Given the description of an element on the screen output the (x, y) to click on. 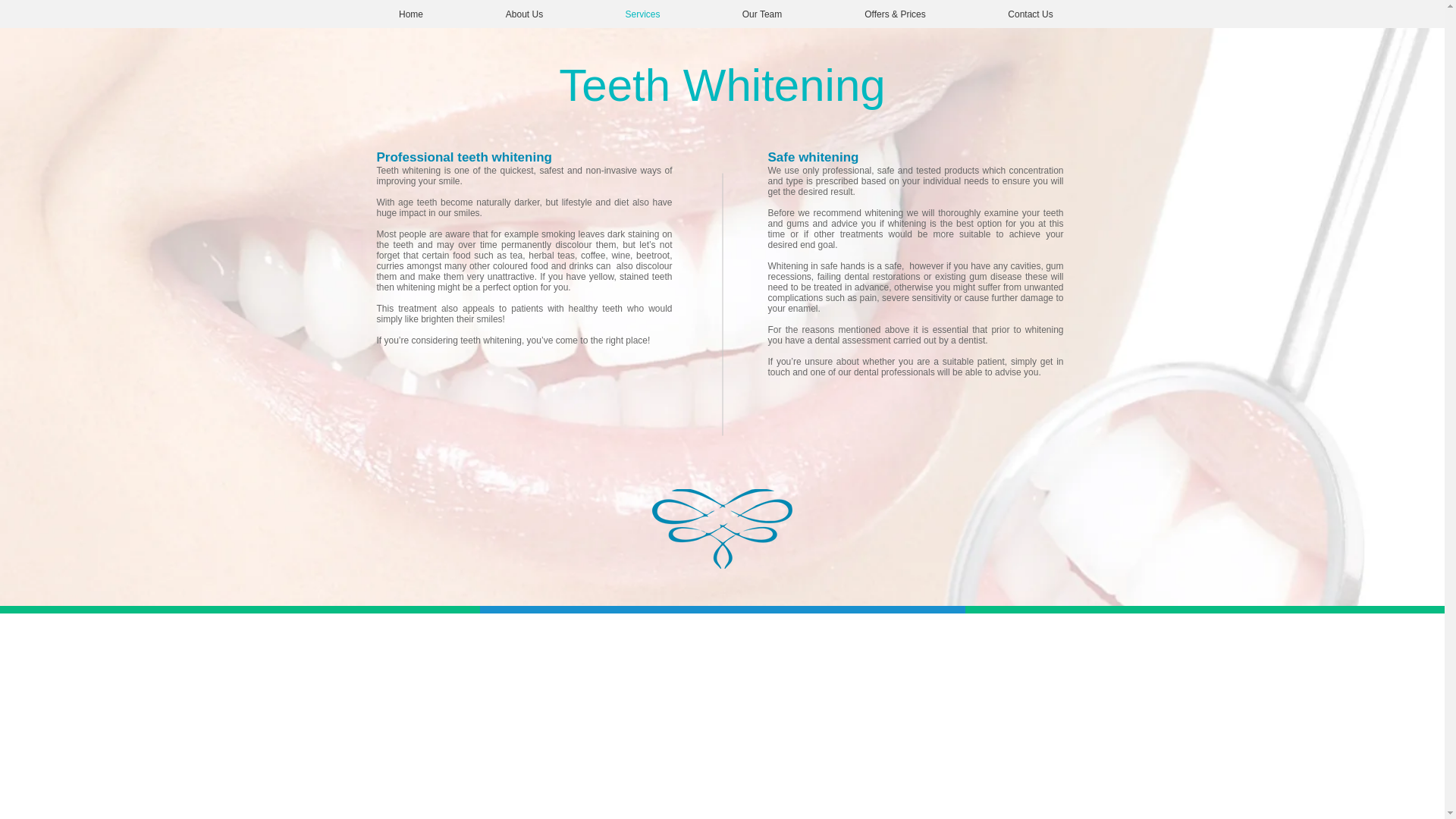
About Us (523, 14)
Our Team (761, 14)
Contact Us (1031, 14)
Services (641, 14)
Home (411, 14)
